Given the description of an element on the screen output the (x, y) to click on. 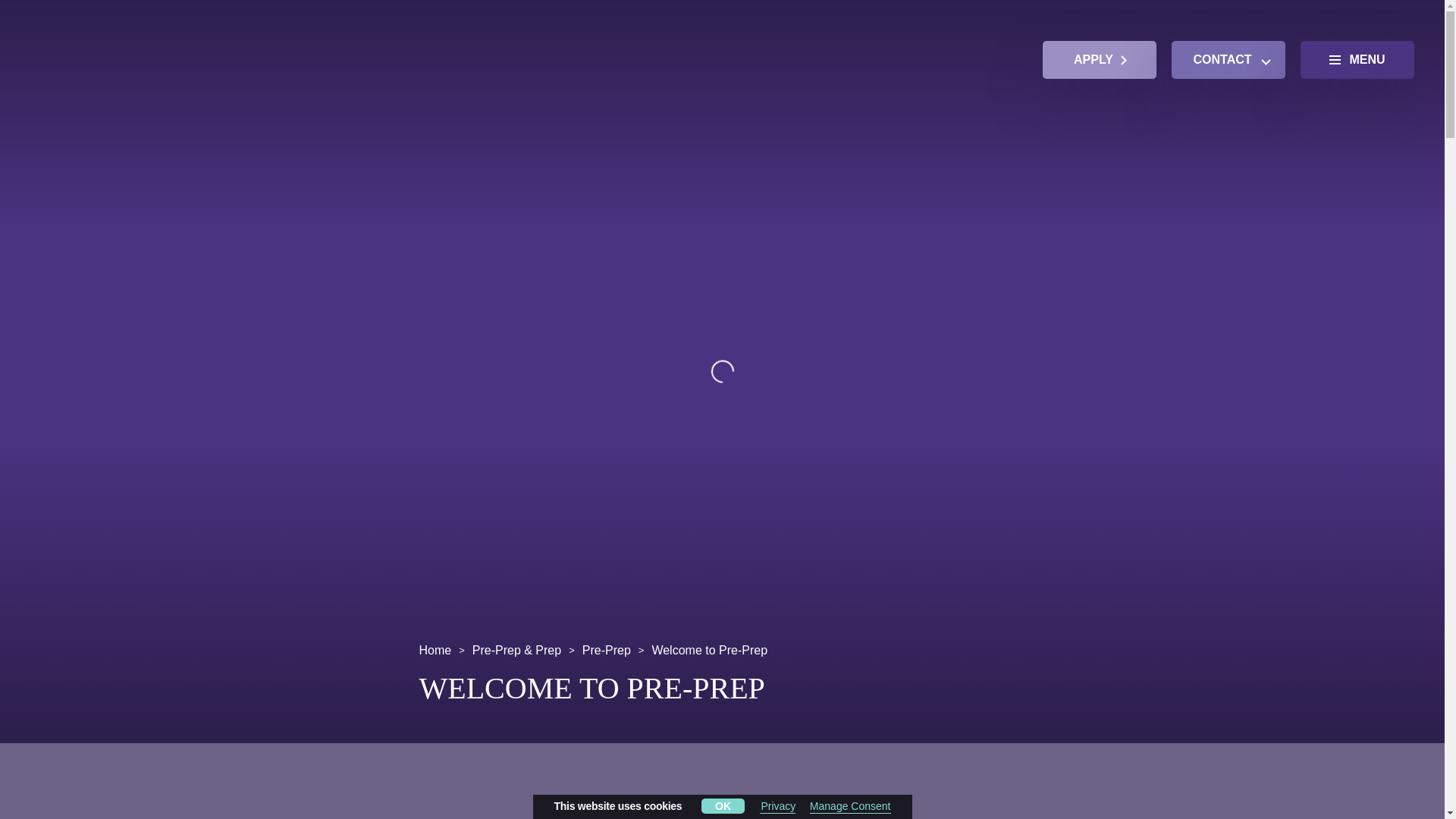
Contact (1228, 59)
APPLY (1099, 59)
Apply (1099, 59)
Open Menu (1356, 59)
CONTACT (1228, 59)
MENU (1356, 59)
